Given the description of an element on the screen output the (x, y) to click on. 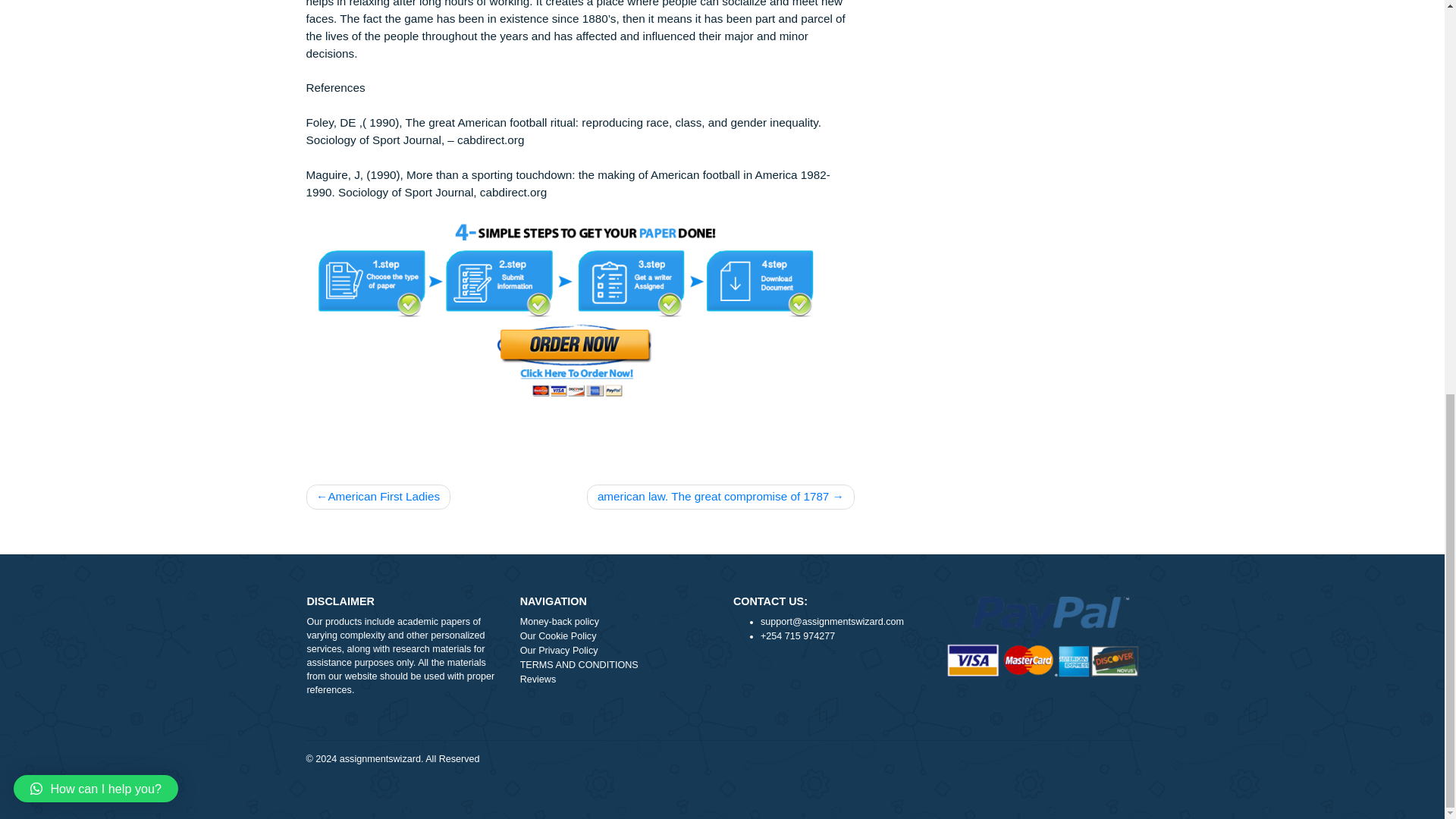
Our Cookie Policy (685, 791)
american law. The great compromise of 1787 (800, 635)
Money-back policy (685, 775)
Our Privacy Policy (685, 807)
American First Ladies (419, 635)
TERMS AND CONDITIONS (685, 817)
How can I help you? (106, 119)
